Given the description of an element on the screen output the (x, y) to click on. 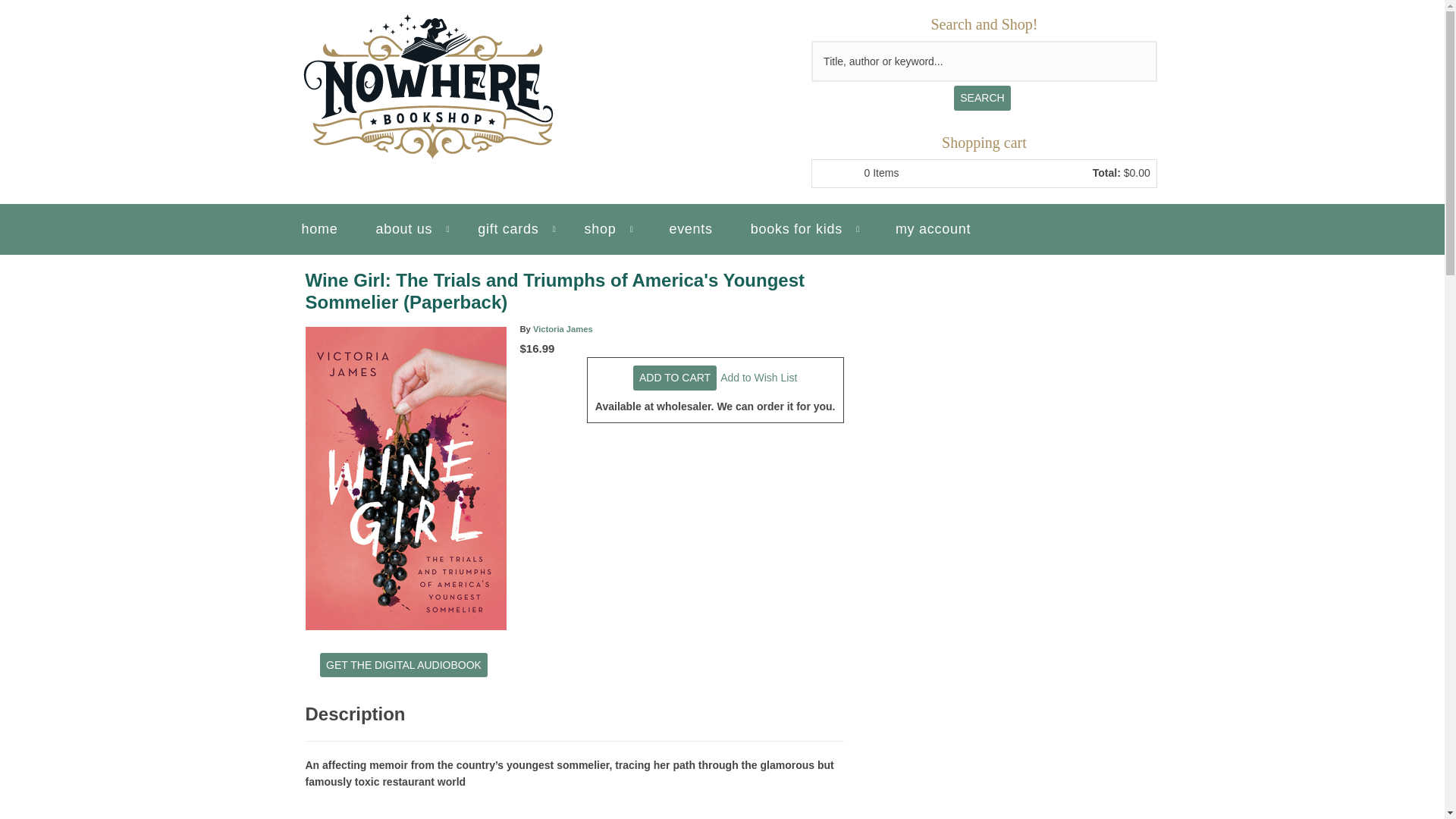
books for kids (803, 228)
home (320, 228)
Add to Cart (674, 377)
gift cards (516, 228)
Get the Digital Audiobook (403, 664)
events (690, 228)
search (981, 97)
shop (607, 228)
Title, author or keyword... (983, 60)
